Given the description of an element on the screen output the (x, y) to click on. 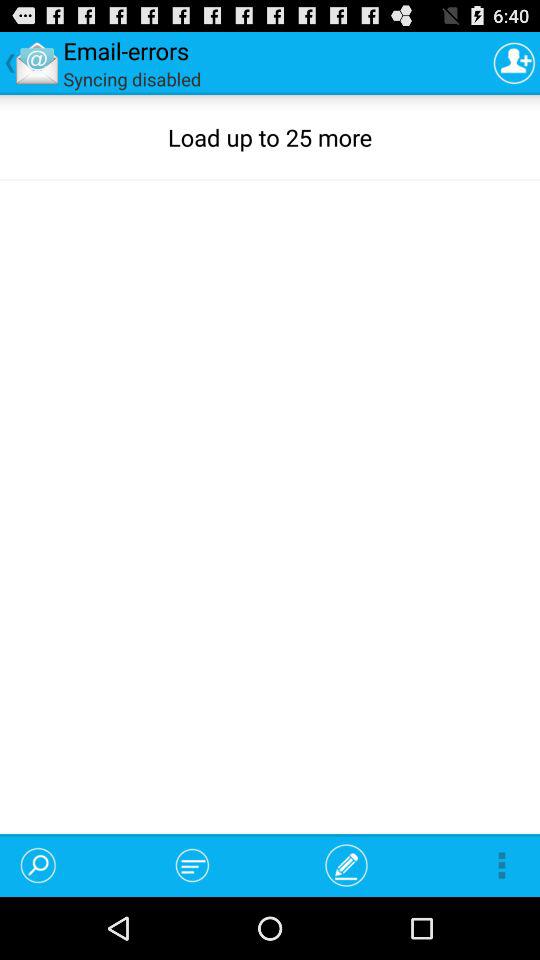
choose the icon at the bottom left corner (38, 864)
